Given the description of an element on the screen output the (x, y) to click on. 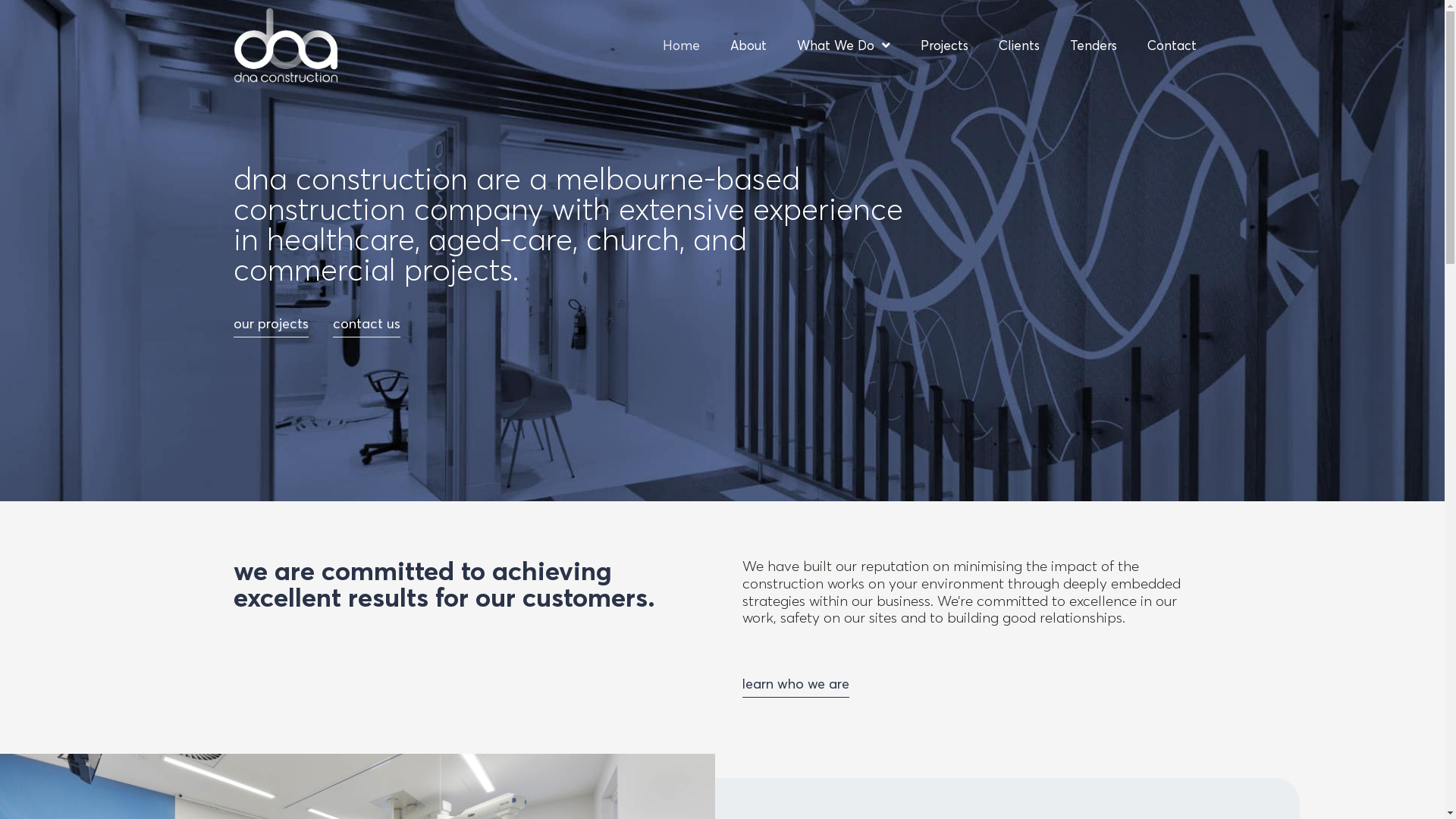
our projects Element type: text (270, 326)
Contact Element type: text (1171, 44)
About Element type: text (747, 44)
What We Do Element type: text (842, 44)
Home Element type: text (681, 44)
Projects Element type: text (944, 44)
Clients Element type: text (1018, 44)
Tenders Element type: text (1092, 44)
contact us Element type: text (365, 326)
learn who we are Element type: text (794, 687)
